Given the description of an element on the screen output the (x, y) to click on. 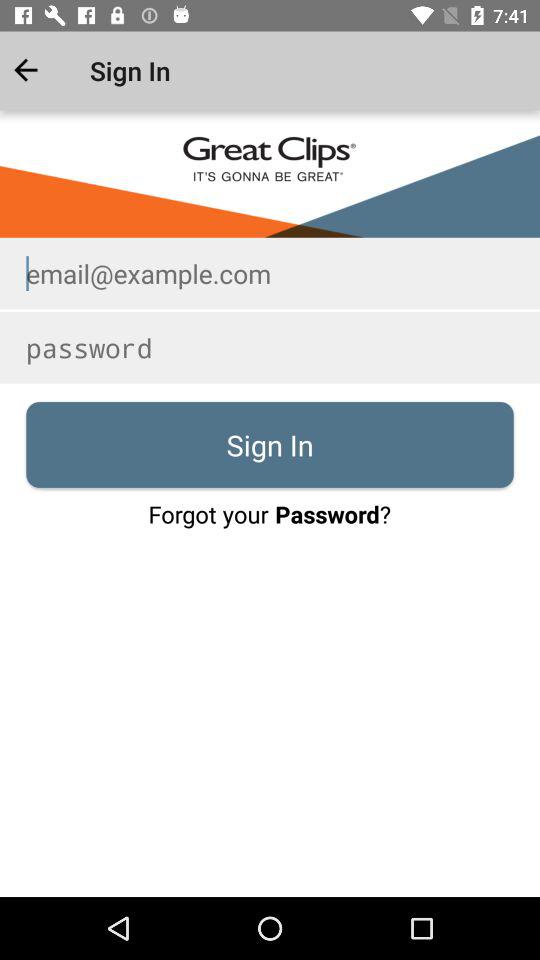
input email address (270, 273)
